Given the description of an element on the screen output the (x, y) to click on. 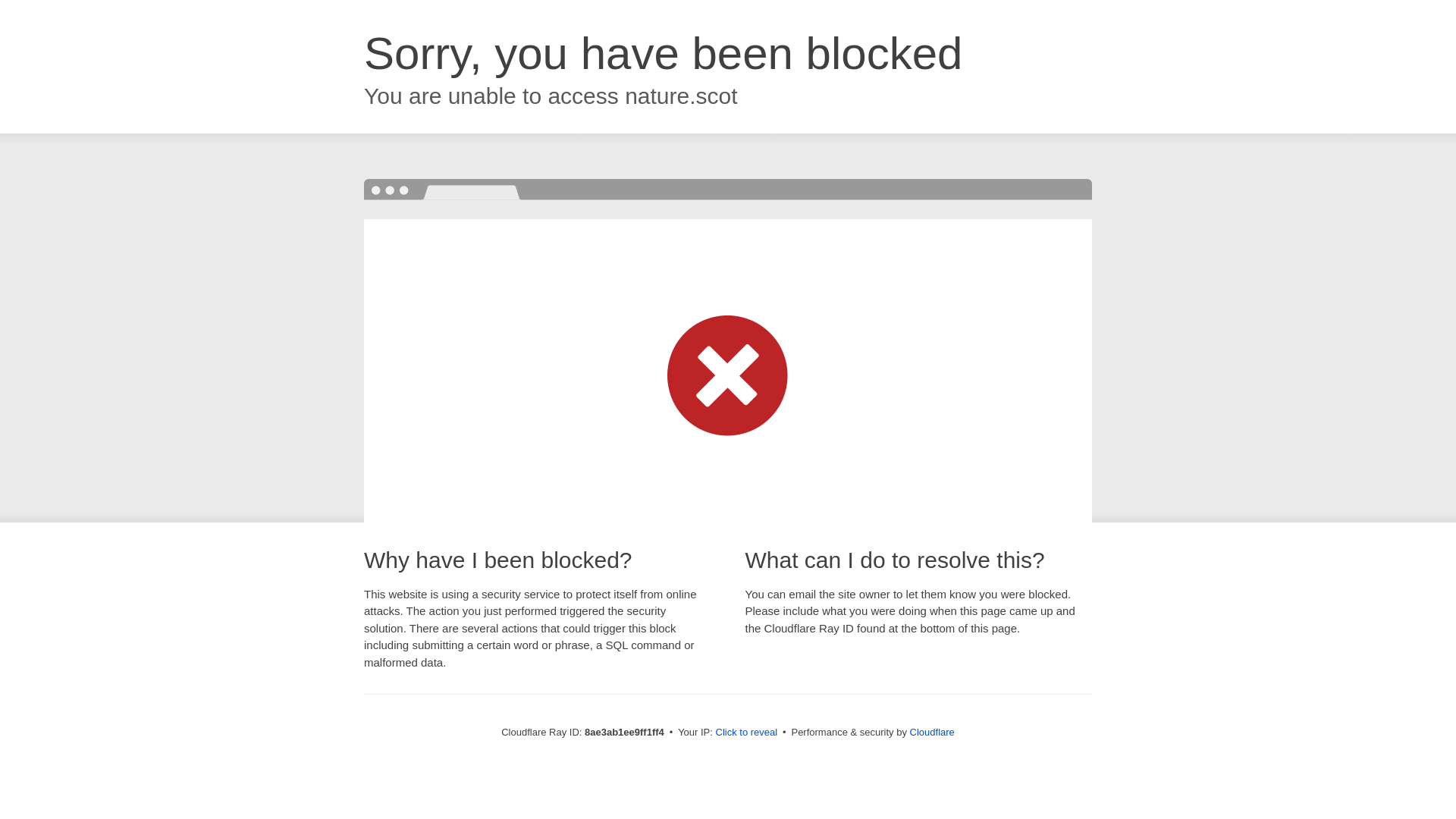
Cloudflare (932, 731)
Click to reveal (746, 732)
